Given the description of an element on the screen output the (x, y) to click on. 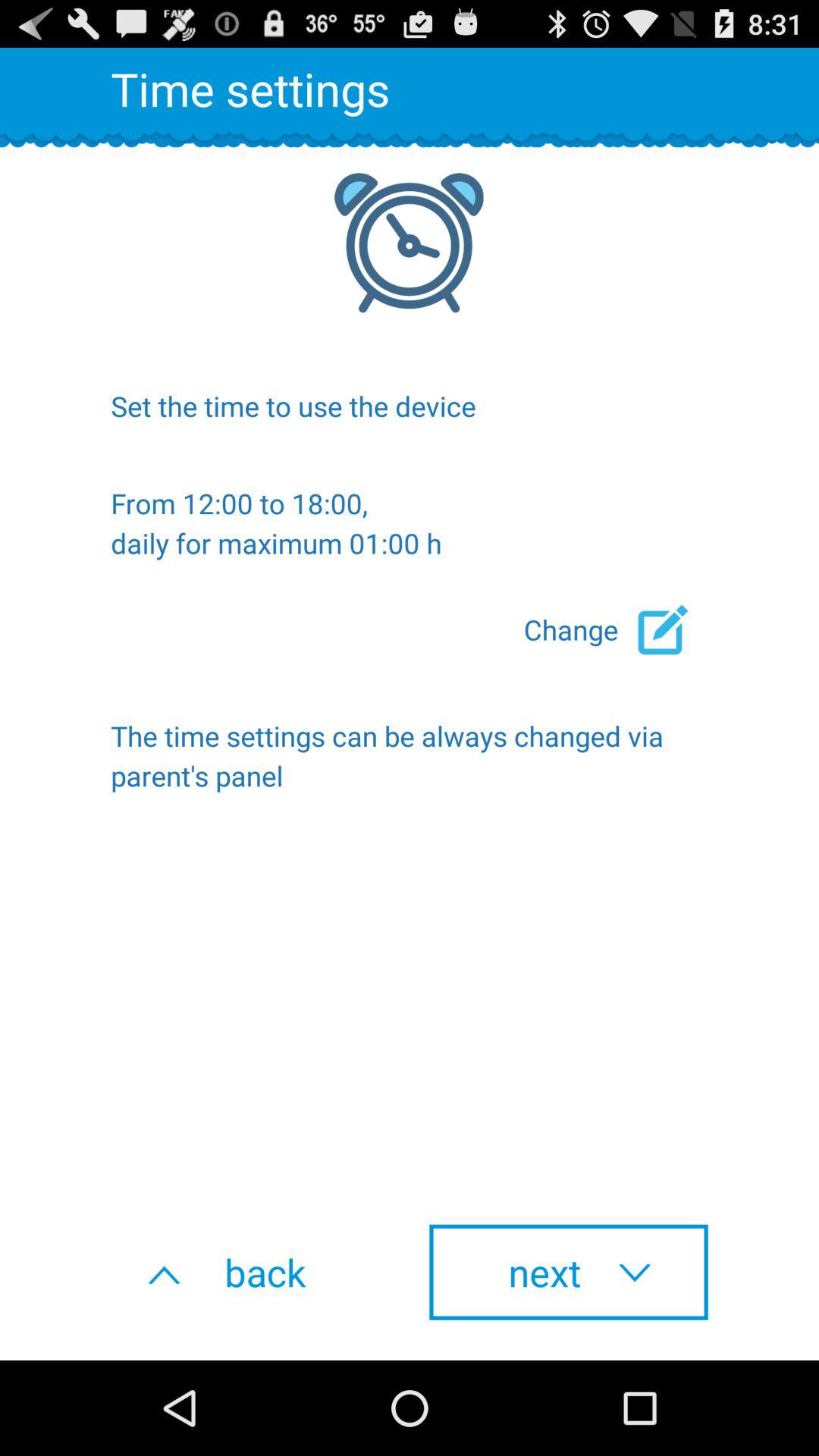
open the icon on the right (615, 629)
